Given the description of an element on the screen output the (x, y) to click on. 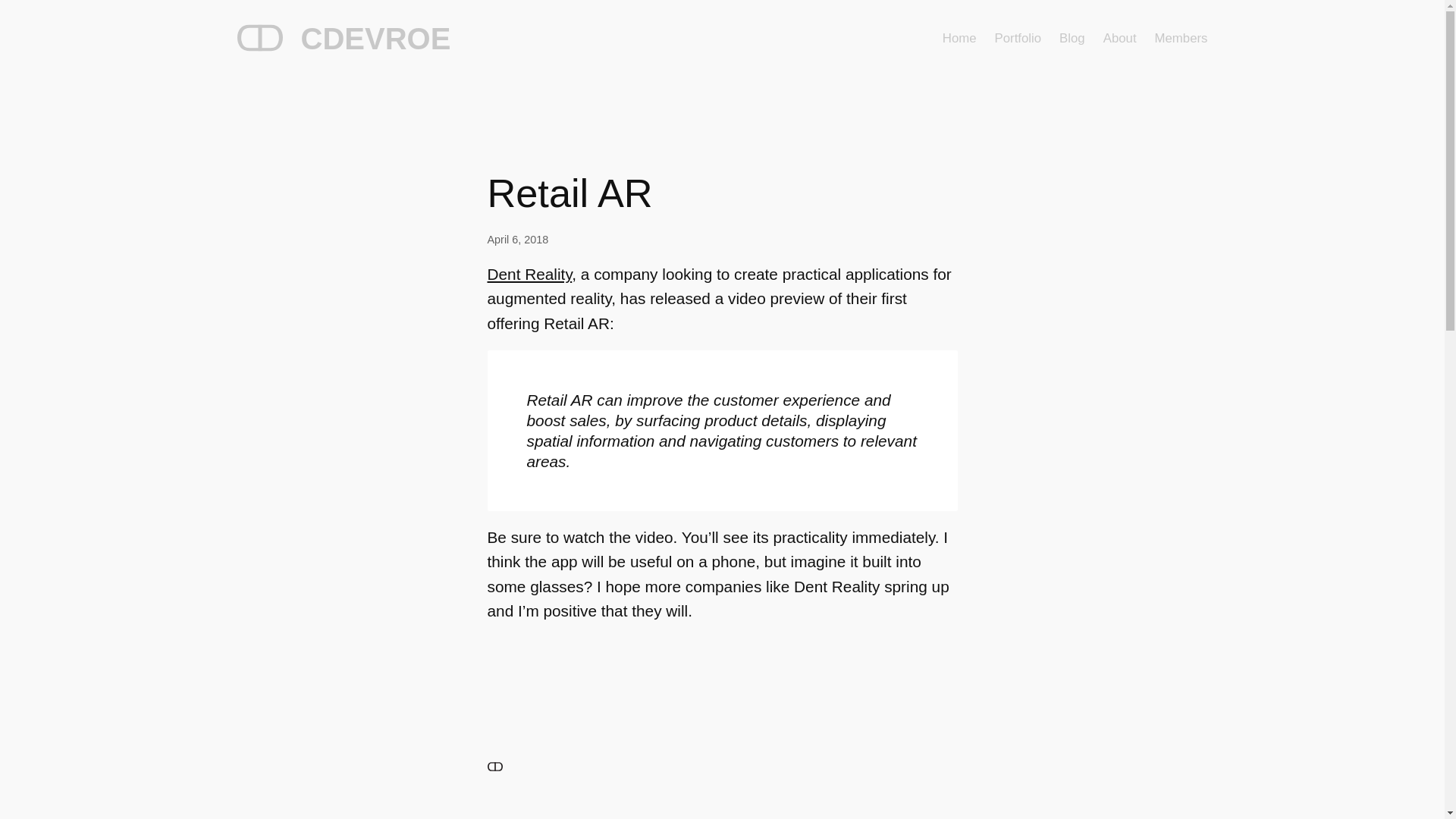
Home (959, 38)
About (1120, 38)
Portfolio (1018, 38)
Members (1181, 38)
April 6, 2018 (517, 239)
CDEVROE (374, 38)
Blog (1071, 38)
Dent Reality (529, 273)
